Given the description of an element on the screen output the (x, y) to click on. 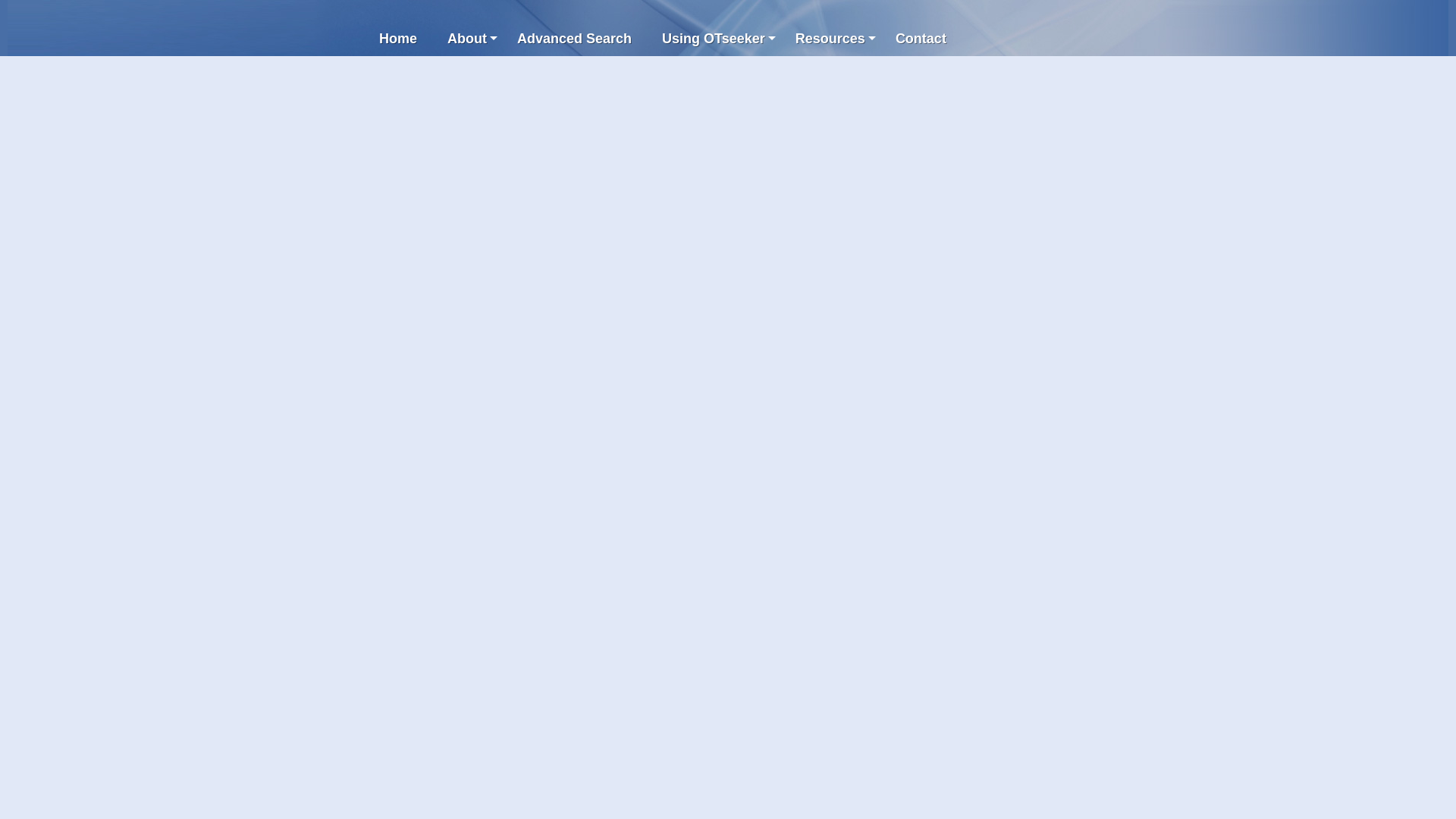
Contact (920, 38)
Home (398, 38)
Using OTseeker (713, 38)
Advanced Search (574, 38)
About (467, 38)
Resources (830, 38)
